Given the description of an element on the screen output the (x, y) to click on. 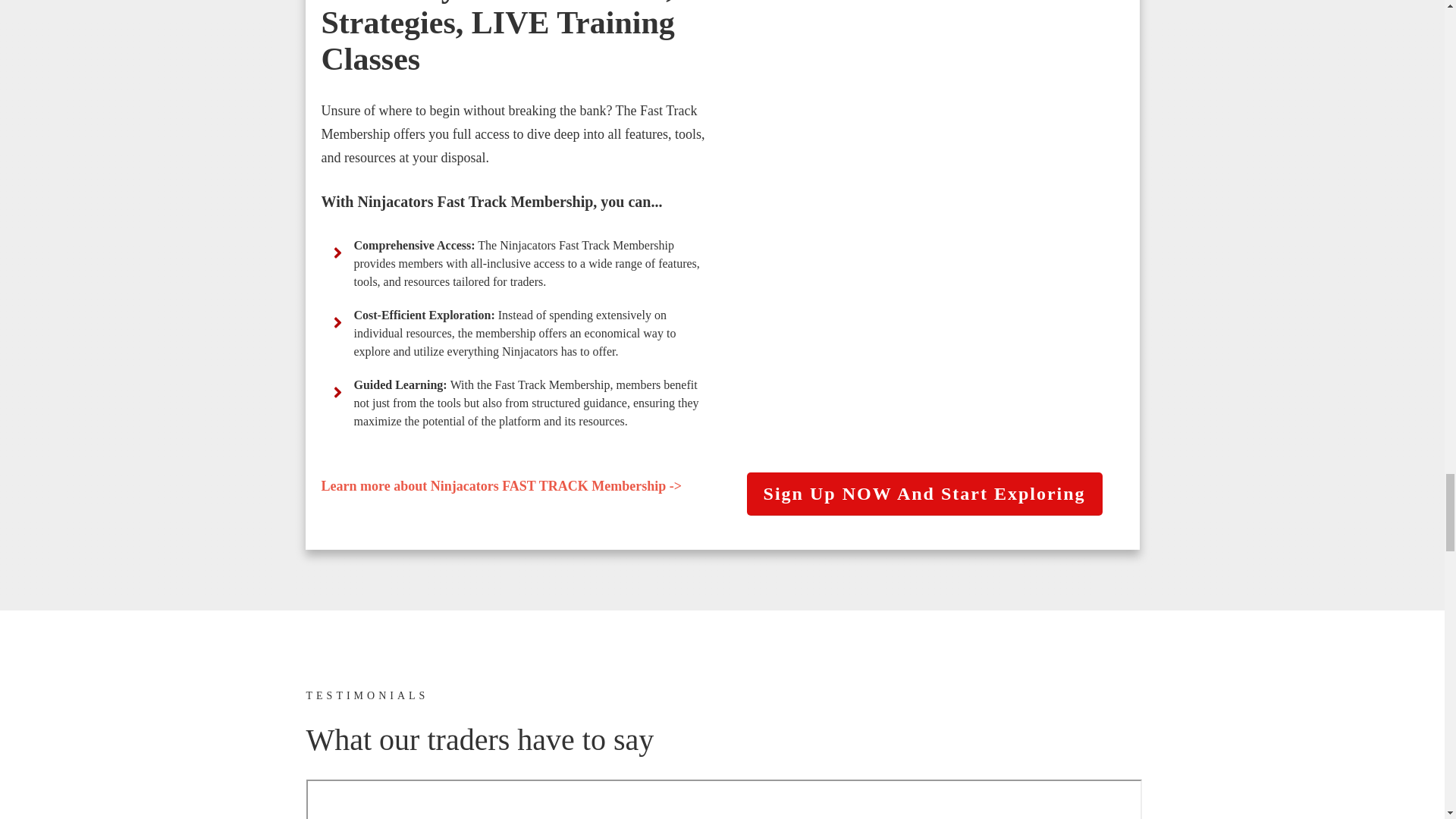
Sign Up NOW And Start Exploring (924, 493)
